Given the description of an element on the screen output the (x, y) to click on. 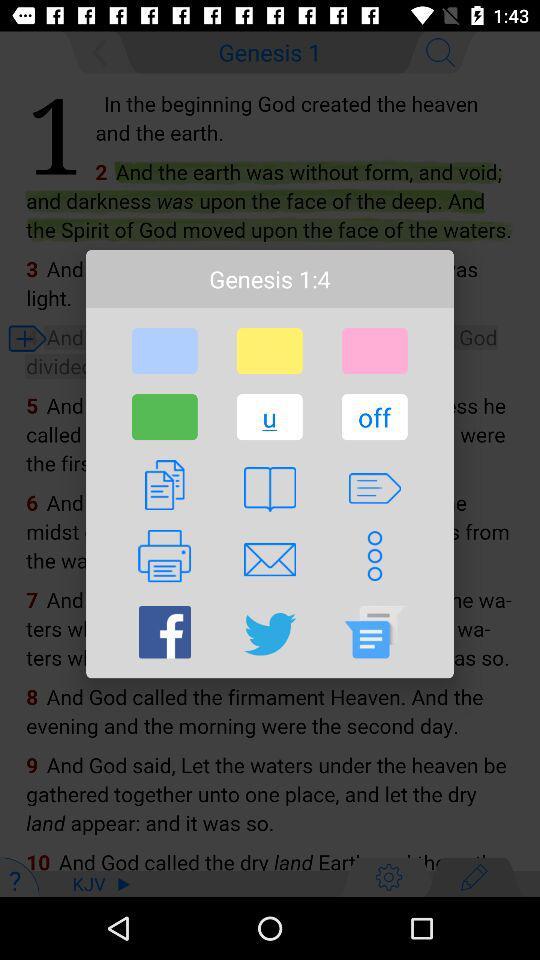
launch button to the left of the off (269, 417)
